Given the description of an element on the screen output the (x, y) to click on. 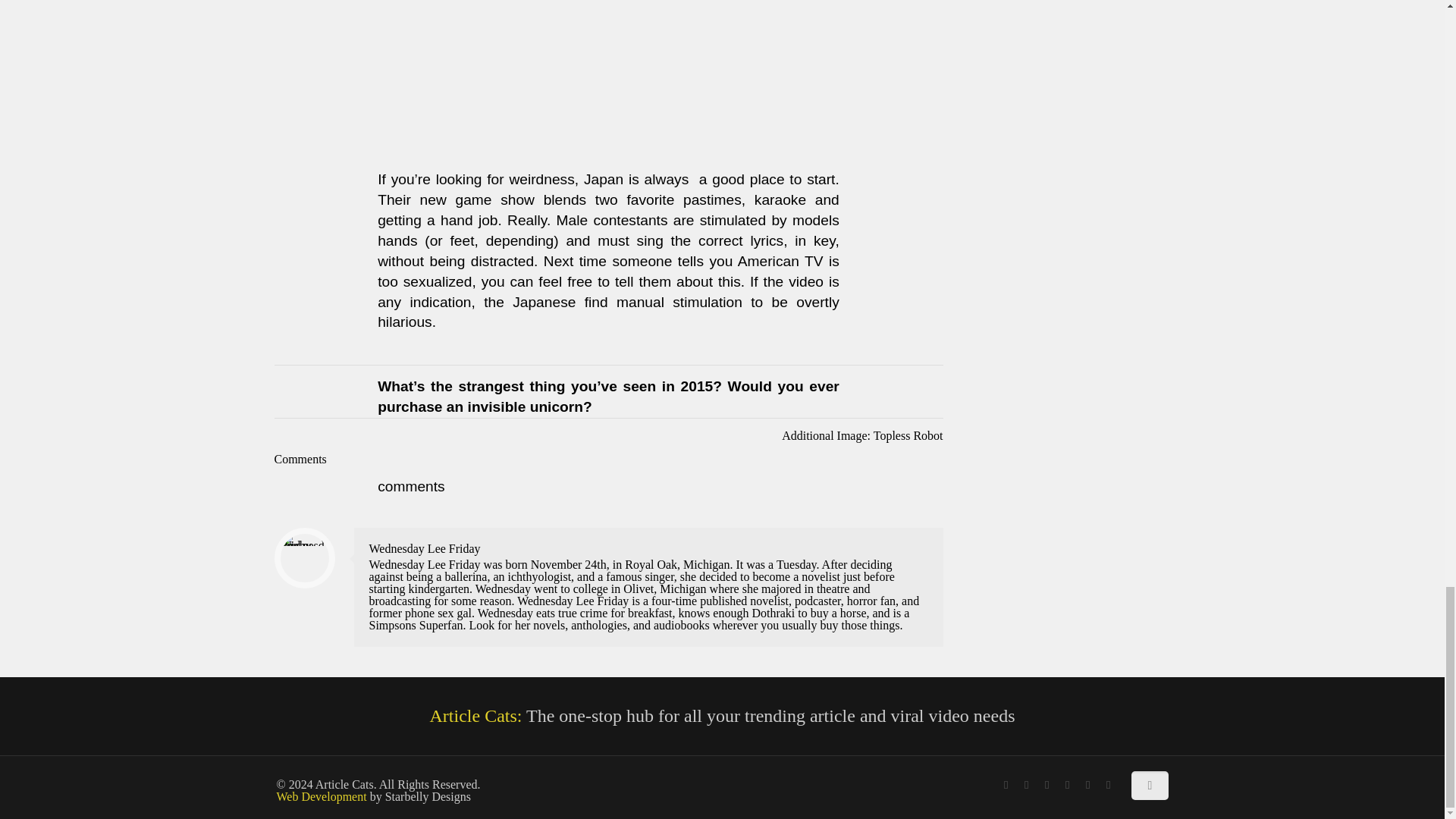
YouTube (1067, 784)
Web Development by Starbelly Designs (321, 796)
Pinterest (1088, 784)
Instagram (1108, 784)
Facebook (1005, 784)
Twitter (1046, 784)
